Given the description of an element on the screen output the (x, y) to click on. 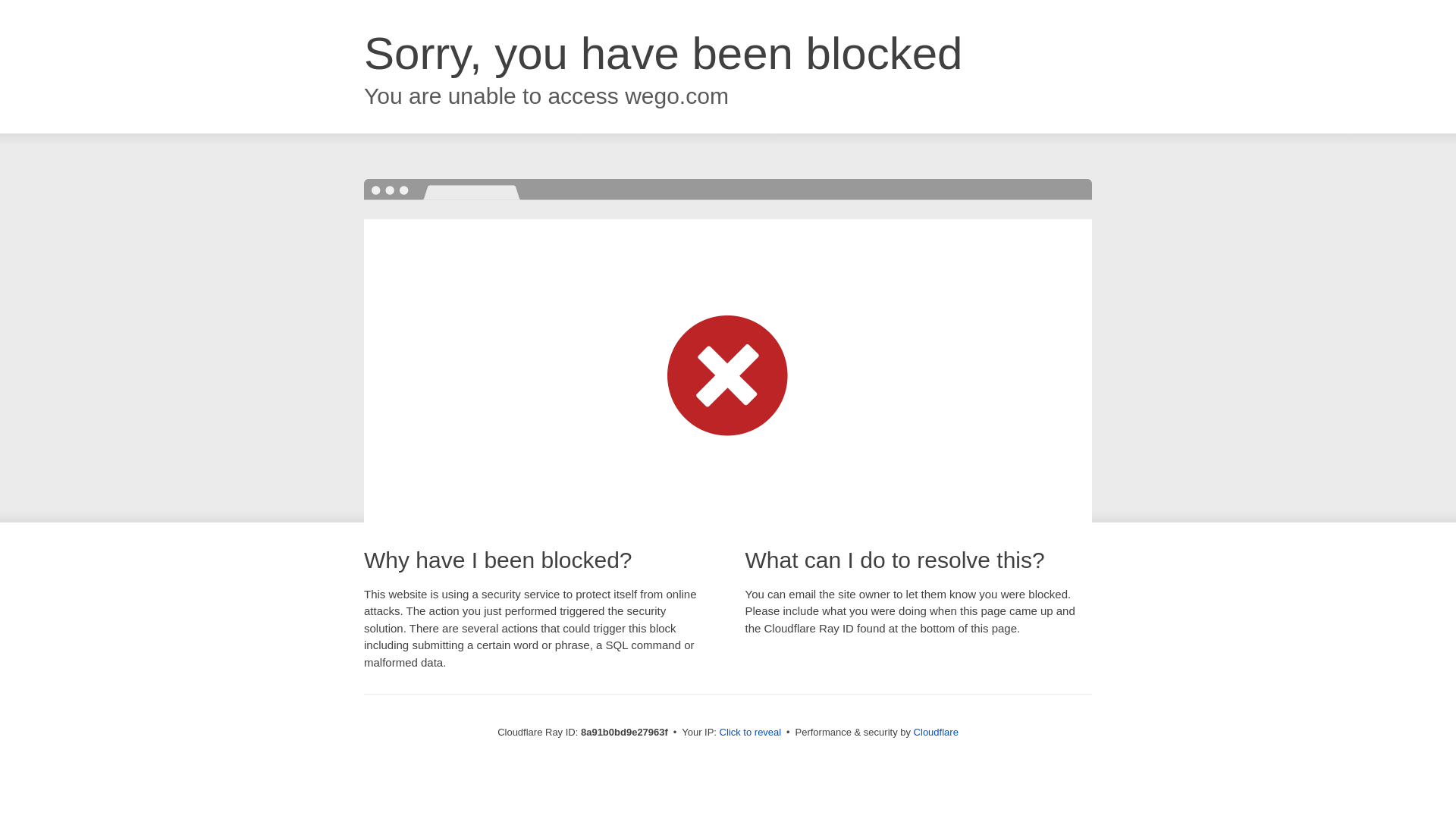
Click to reveal (750, 732)
Cloudflare (936, 731)
